Given the description of an element on the screen output the (x, y) to click on. 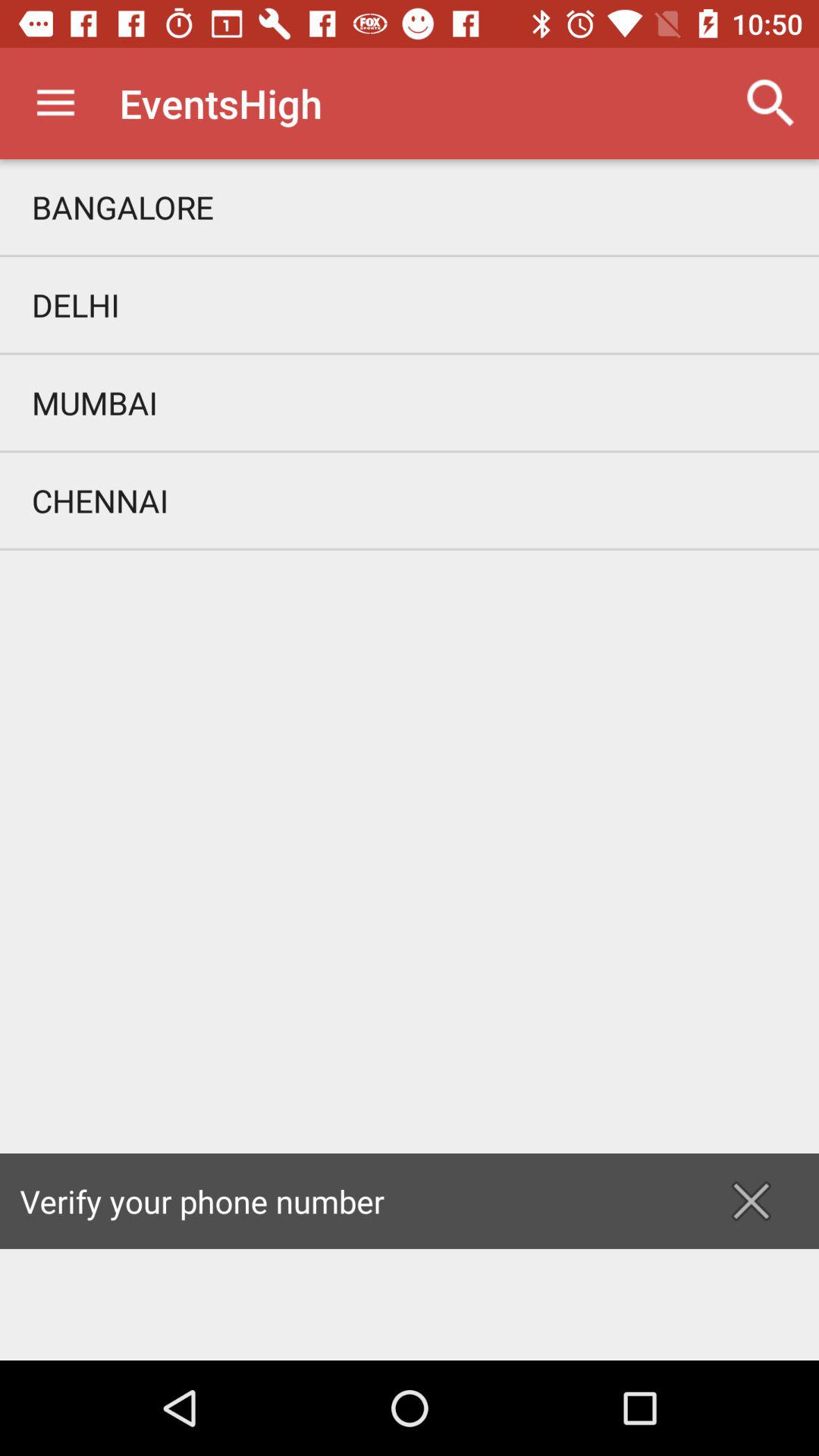
flip until bangalore (409, 206)
